Given the description of an element on the screen output the (x, y) to click on. 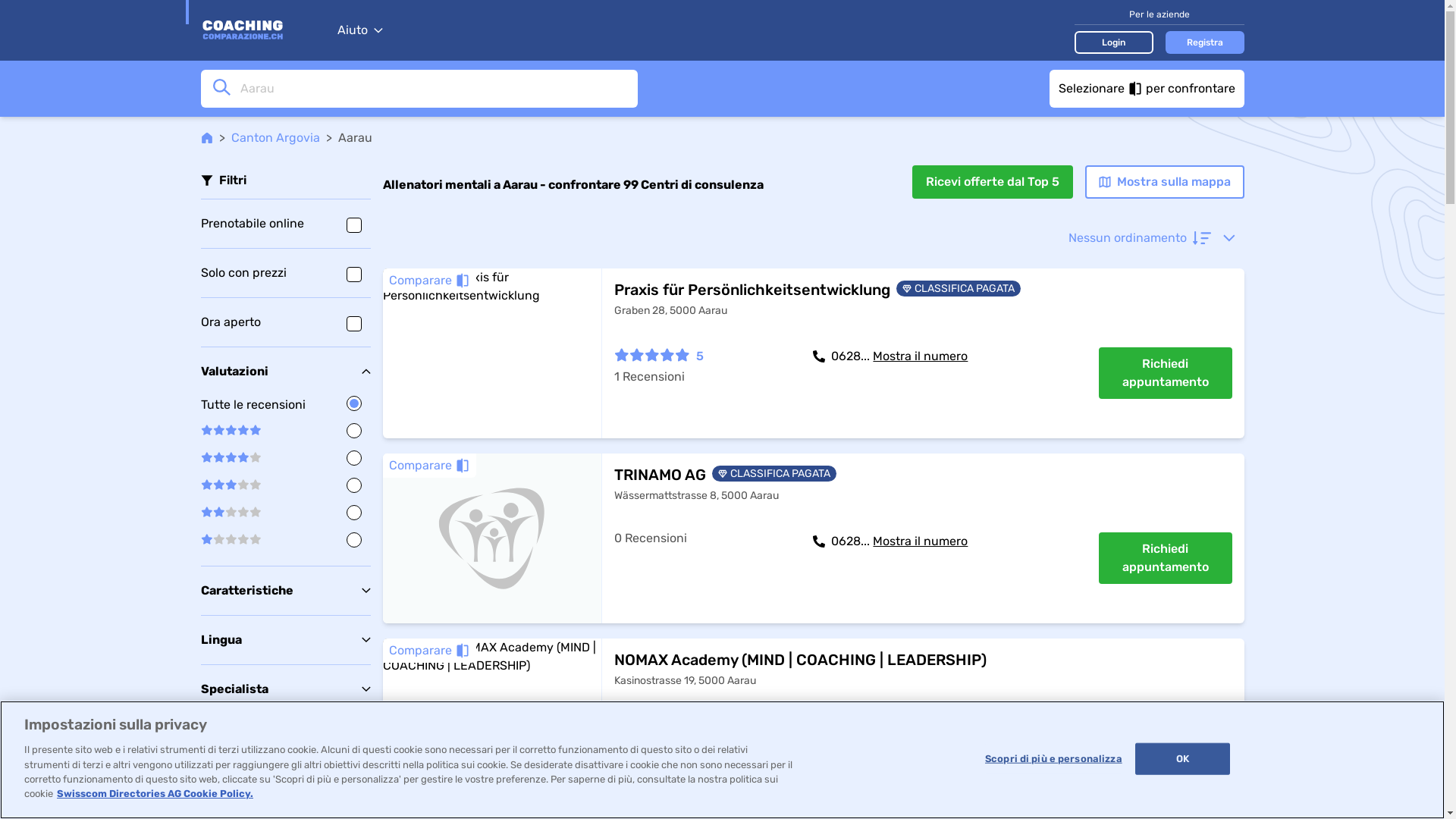
Prenota una data Element type: text (1164, 749)
Comparare Element type: text (428, 650)
Login Element type: text (1112, 41)
Ora aperto Element type: text (285, 321)
OK Element type: text (1182, 759)
Canton Argovia Element type: text (274, 137)
Registra Element type: text (1203, 41)
Selezionare
per confrontare Element type: text (1146, 88)
Richiedi appuntamento Element type: text (1164, 372)
Nessun ordinamento Element type: text (1150, 237)
Vai alla home page Element type: hover (260, 30)
Comparare Element type: text (428, 465)
Mostra sulla mappa Element type: text (1163, 181)
Ricevi offerte dal Top 5 Element type: text (991, 181)
Richiedi appuntamento Element type: text (1164, 557)
Aiuto Element type: text (359, 30)
Prenotabile online Element type: text (285, 223)
Swisscom Directories AG Cookie Policy. Element type: text (154, 793)
Comparare Element type: text (428, 280)
Solo con prezzi Element type: text (285, 272)
